Given the description of an element on the screen output the (x, y) to click on. 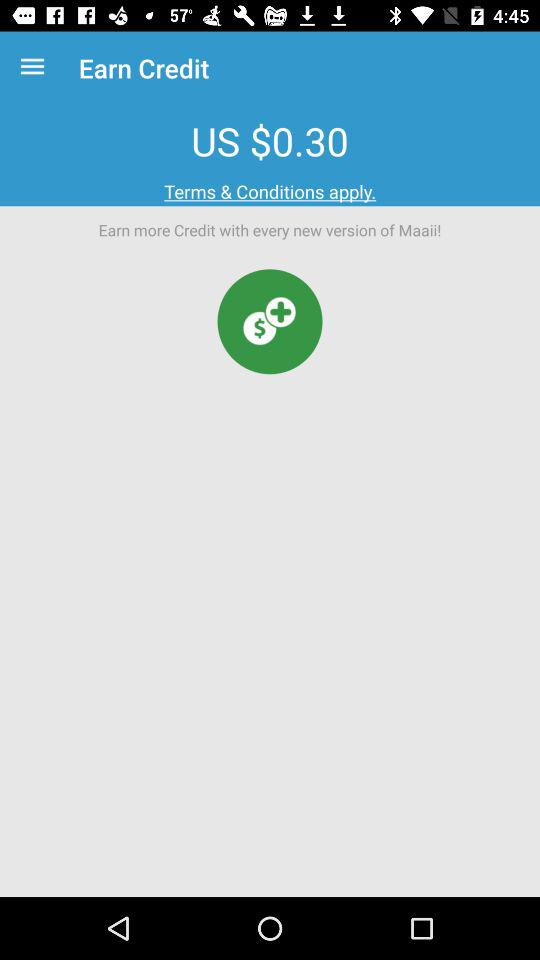
choose the icon at the center (269, 321)
